Given the description of an element on the screen output the (x, y) to click on. 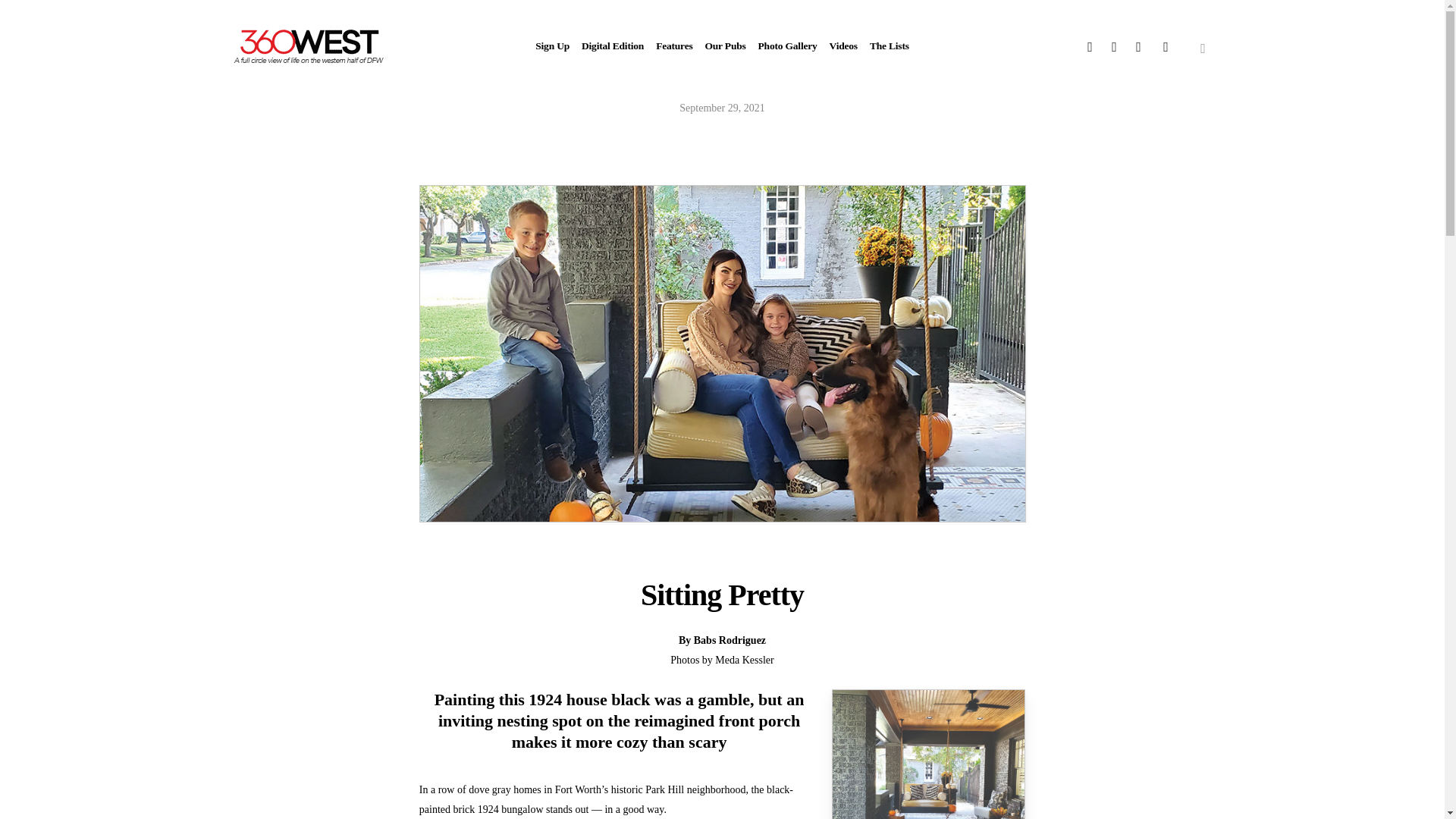
Our Pubs (724, 47)
Photo Gallery (787, 47)
The Lists (888, 47)
Digital Edition (611, 47)
